Given the description of an element on the screen output the (x, y) to click on. 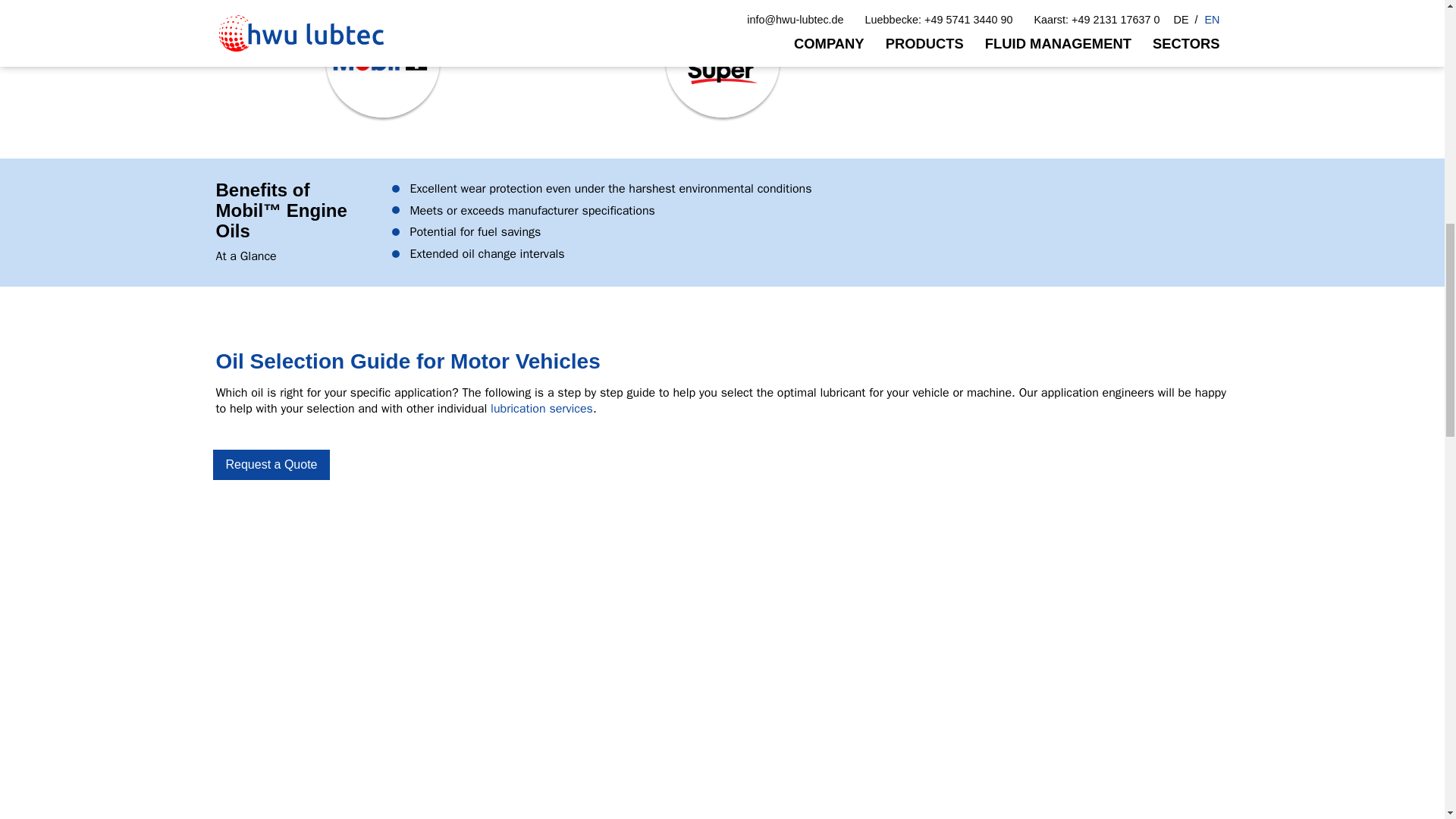
Mobil 1 (382, 60)
Mobil Super (721, 60)
Mobil Delvac (1062, 11)
